Given the description of an element on the screen output the (x, y) to click on. 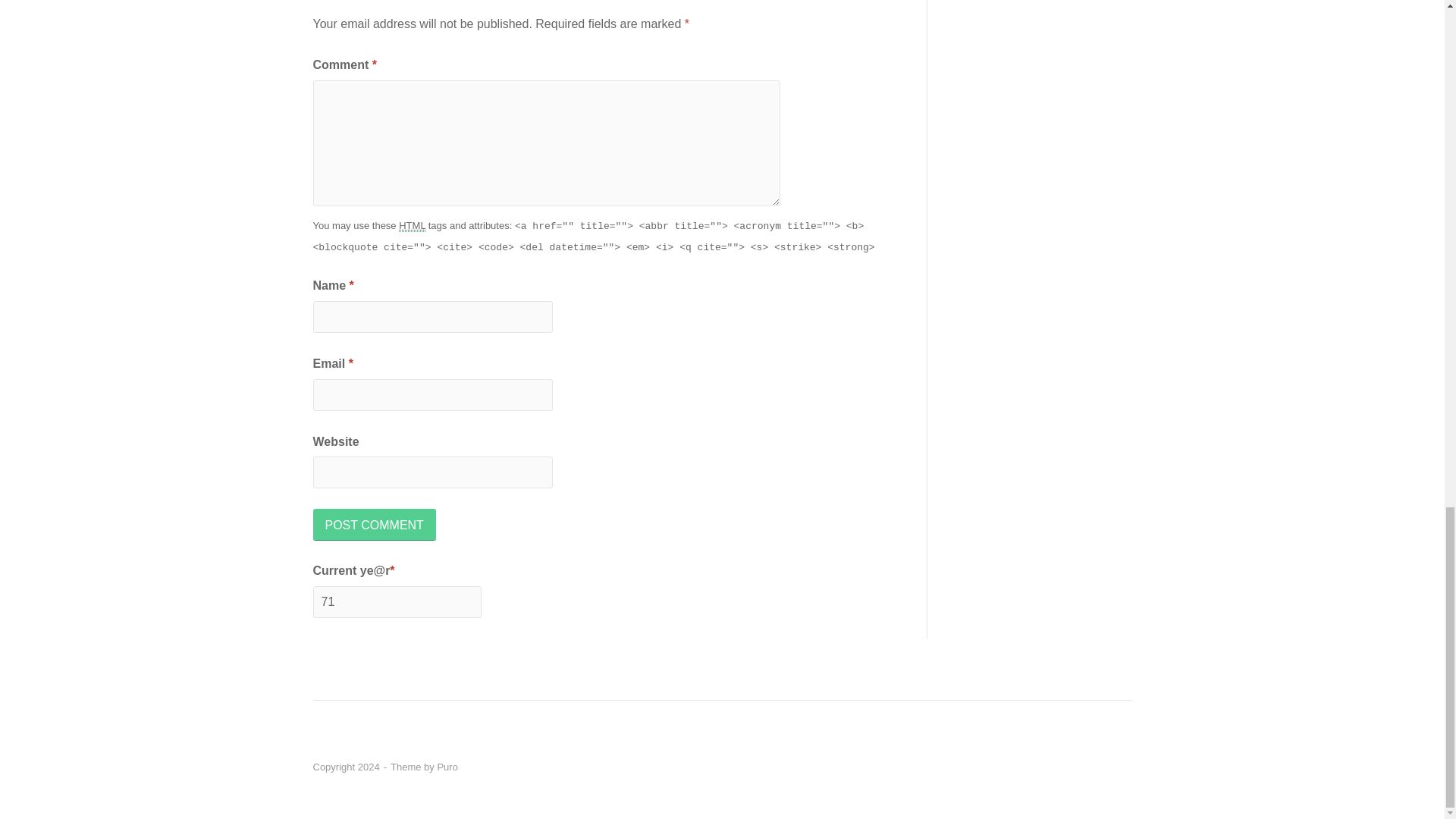
HyperText Markup Language (411, 225)
71 (396, 602)
Post Comment (374, 523)
Post Comment (374, 523)
